Given the description of an element on the screen output the (x, y) to click on. 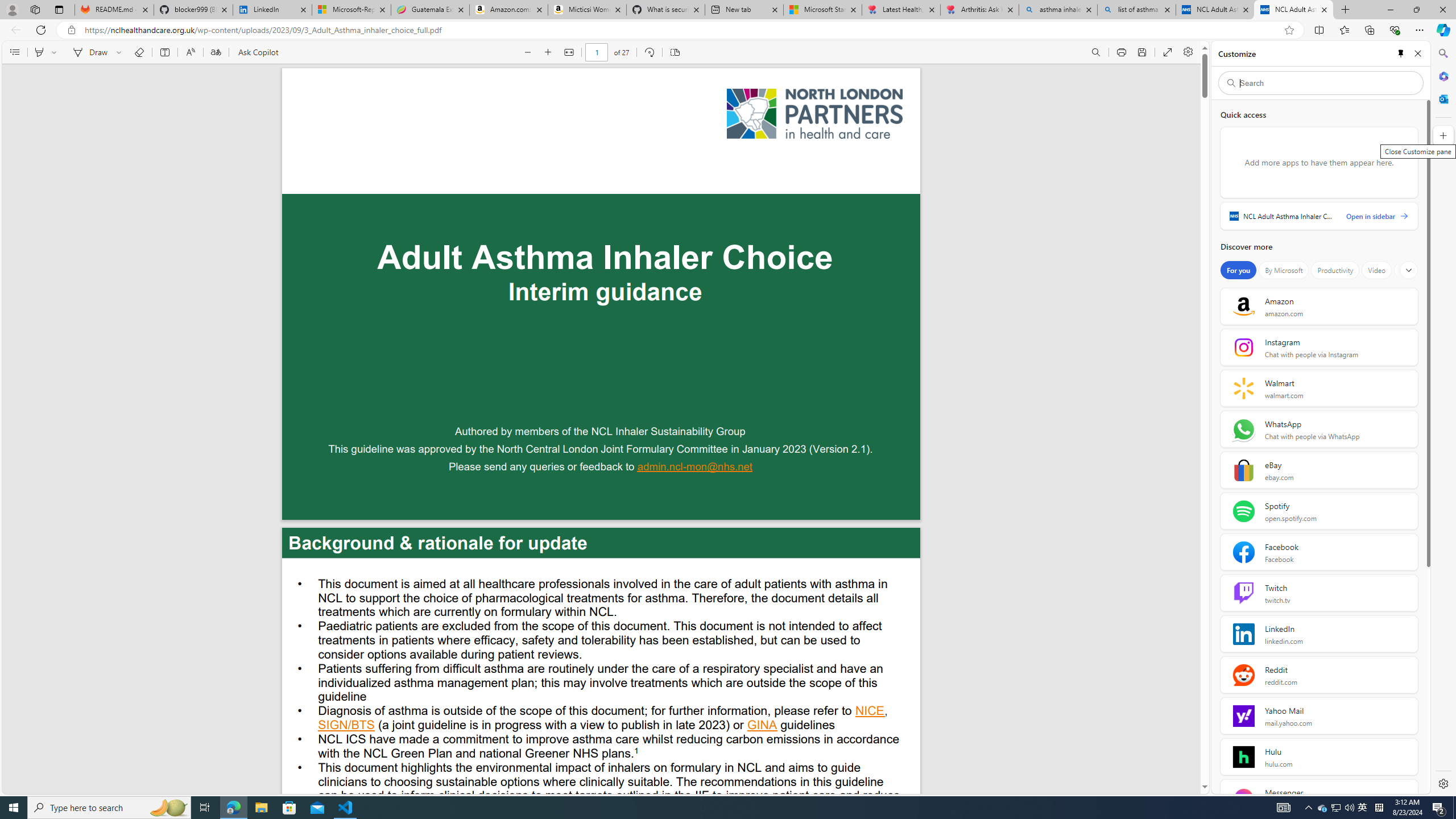
Erase (138, 52)
Contents (14, 52)
Print (Ctrl+P) (1121, 52)
Read aloud (189, 52)
